Given the description of an element on the screen output the (x, y) to click on. 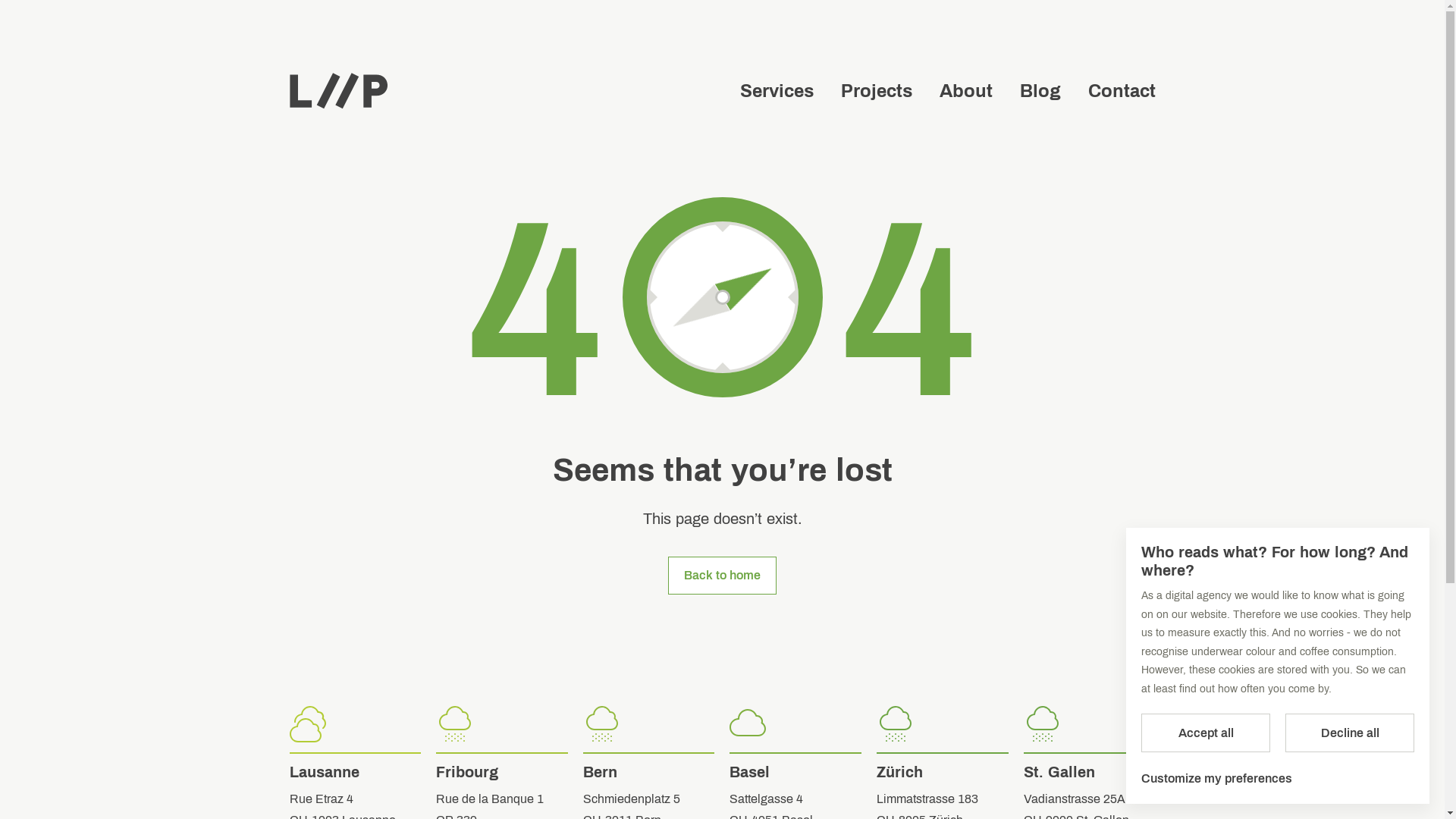
About Element type: text (964, 90)
Decline all Element type: text (1349, 732)
Services Element type: text (776, 90)
Contact Element type: text (1120, 90)
Blog Element type: text (1039, 90)
Back to home Element type: text (722, 575)
Accept all Element type: text (1205, 732)
Customize my preferences Element type: text (1216, 778)
Projects Element type: text (875, 90)
